Given the description of an element on the screen output the (x, y) to click on. 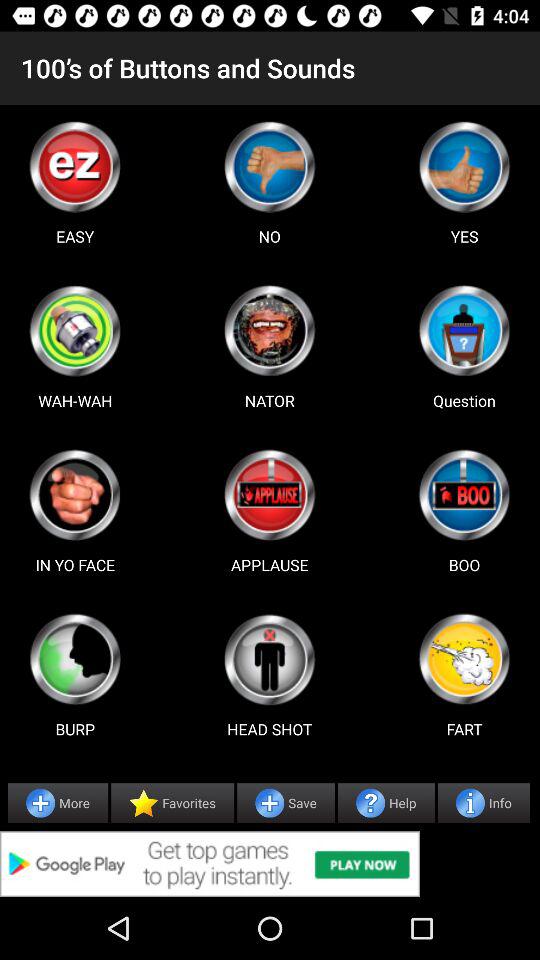
no sound (269, 166)
